Given the description of an element on the screen output the (x, y) to click on. 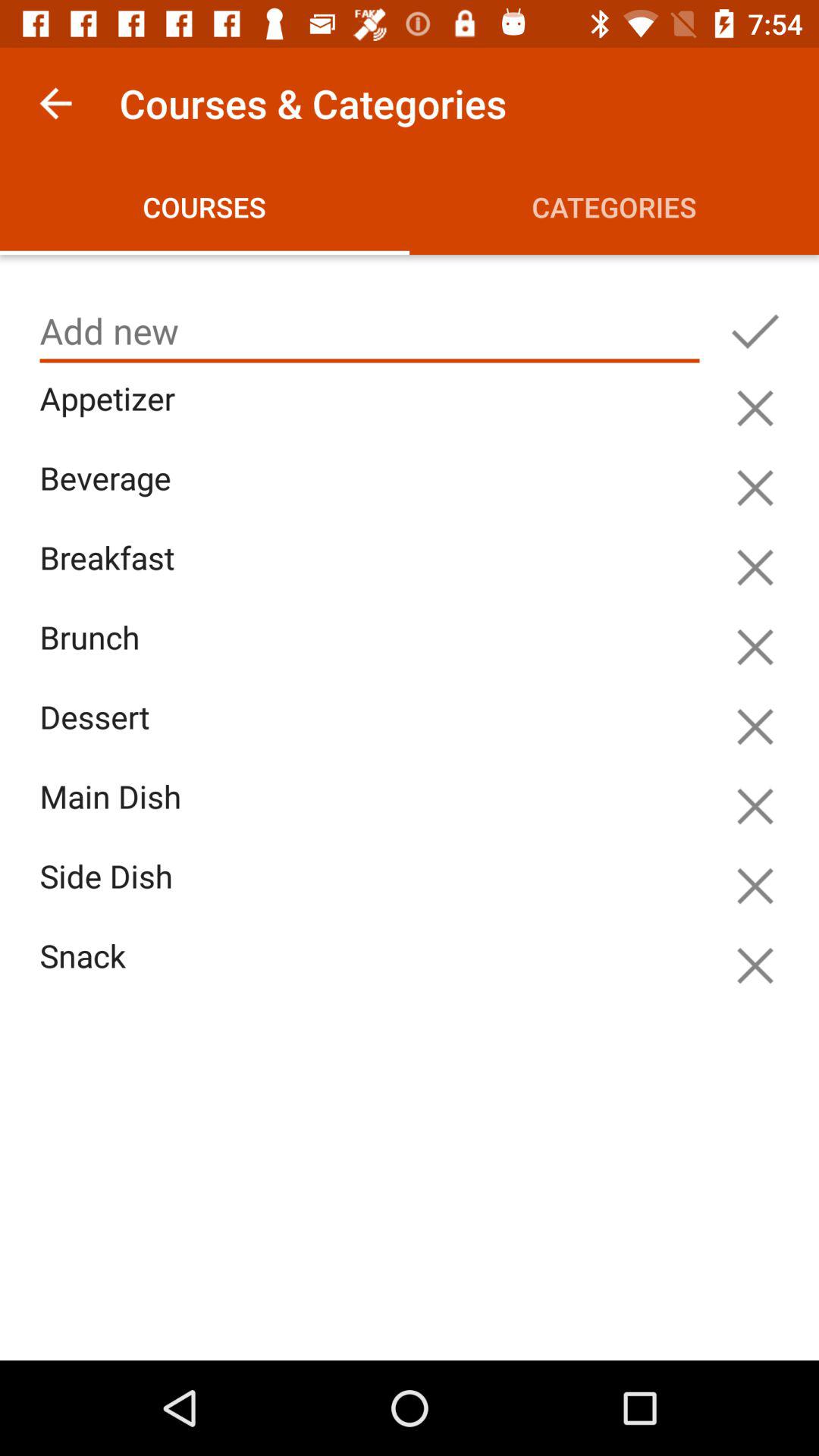
click item to the left of the courses & categories app (55, 103)
